Given the description of an element on the screen output the (x, y) to click on. 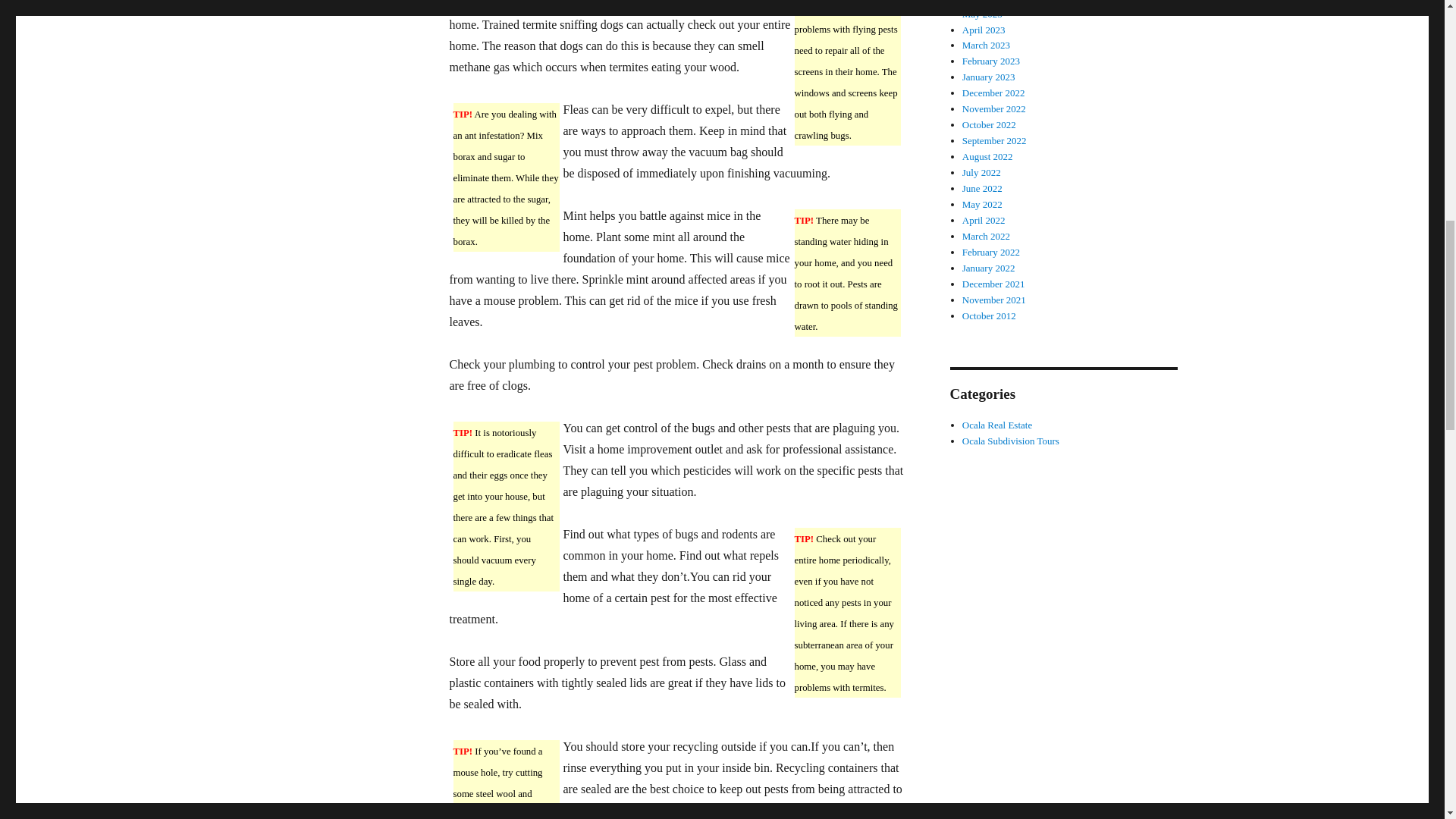
April 2022 (984, 220)
May 2022 (982, 204)
December 2022 (993, 92)
September 2022 (994, 140)
March 2022 (986, 235)
January 2023 (988, 76)
October 2022 (989, 124)
February 2023 (991, 60)
June 2022 (982, 188)
June 2023 (982, 2)
March 2023 (986, 44)
November 2022 (994, 108)
February 2022 (991, 251)
May 2023 (982, 13)
August 2022 (987, 156)
